Given the description of an element on the screen output the (x, y) to click on. 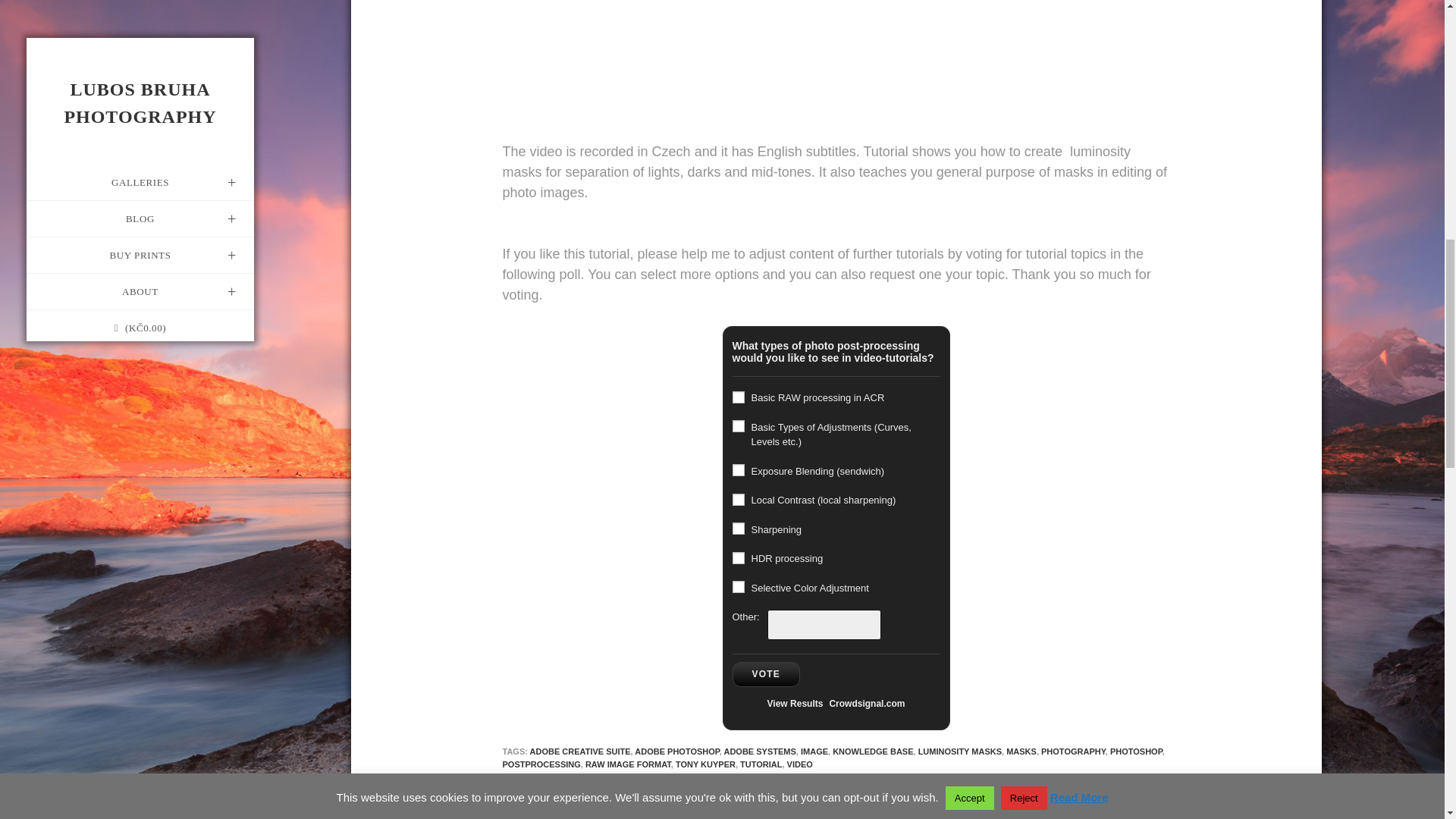
31636714 (738, 499)
31636715 (738, 528)
31636716 (738, 558)
31636713 (738, 469)
31636717 (738, 586)
31636712 (738, 426)
31636711 (738, 397)
